Given the description of an element on the screen output the (x, y) to click on. 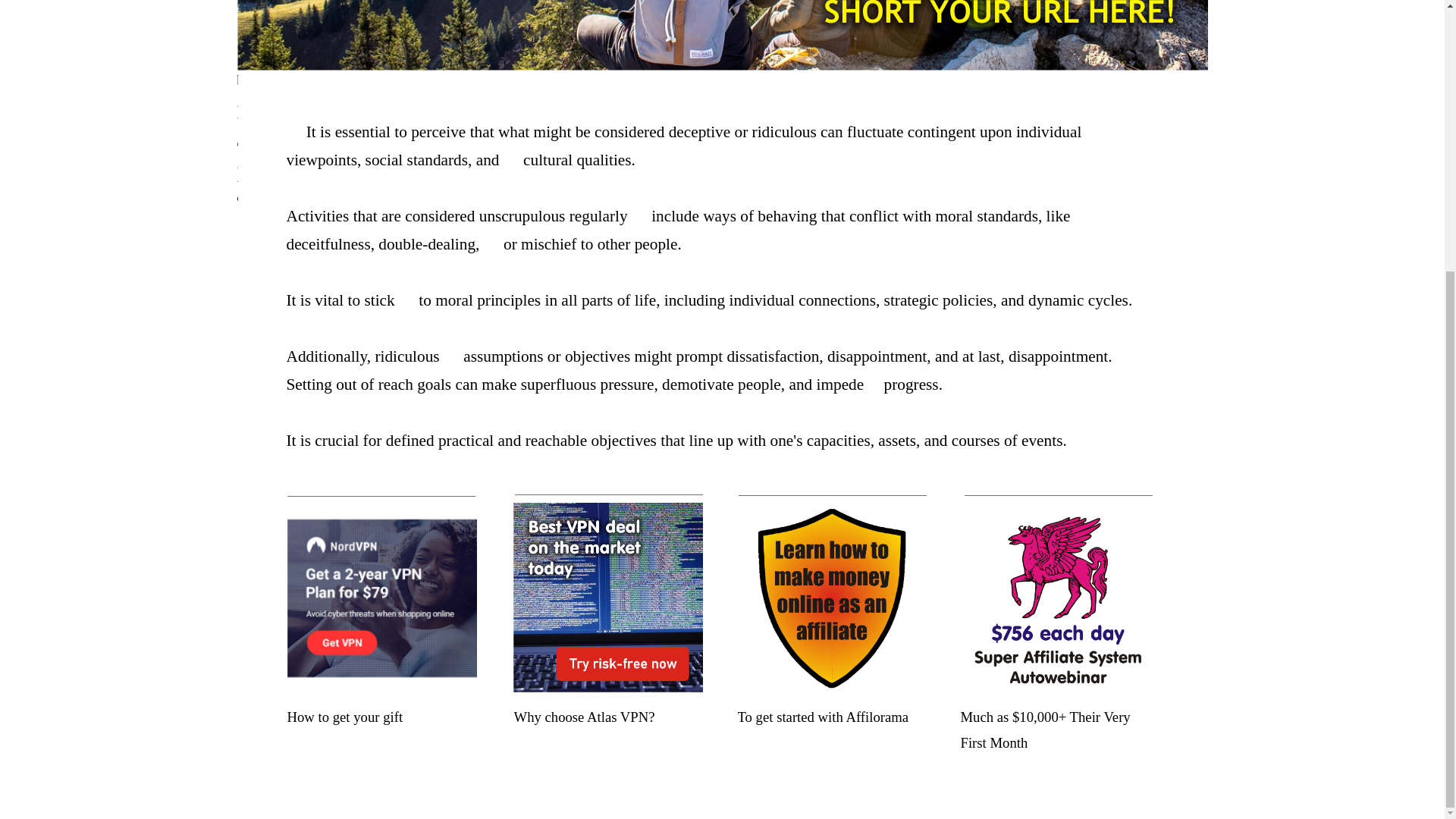
hyperlink shortener :us (721, 112)
Bitly URL shortener (1103, 132)
URL shortener free (1101, 118)
Tiny URL shortener (1102, 186)
Custom URL shortener (1110, 159)
URL shortener Google (1109, 104)
Best URL shortener (1102, 173)
Google URL shortener free (1120, 200)
Short link generator (1102, 145)
